Given the description of an element on the screen output the (x, y) to click on. 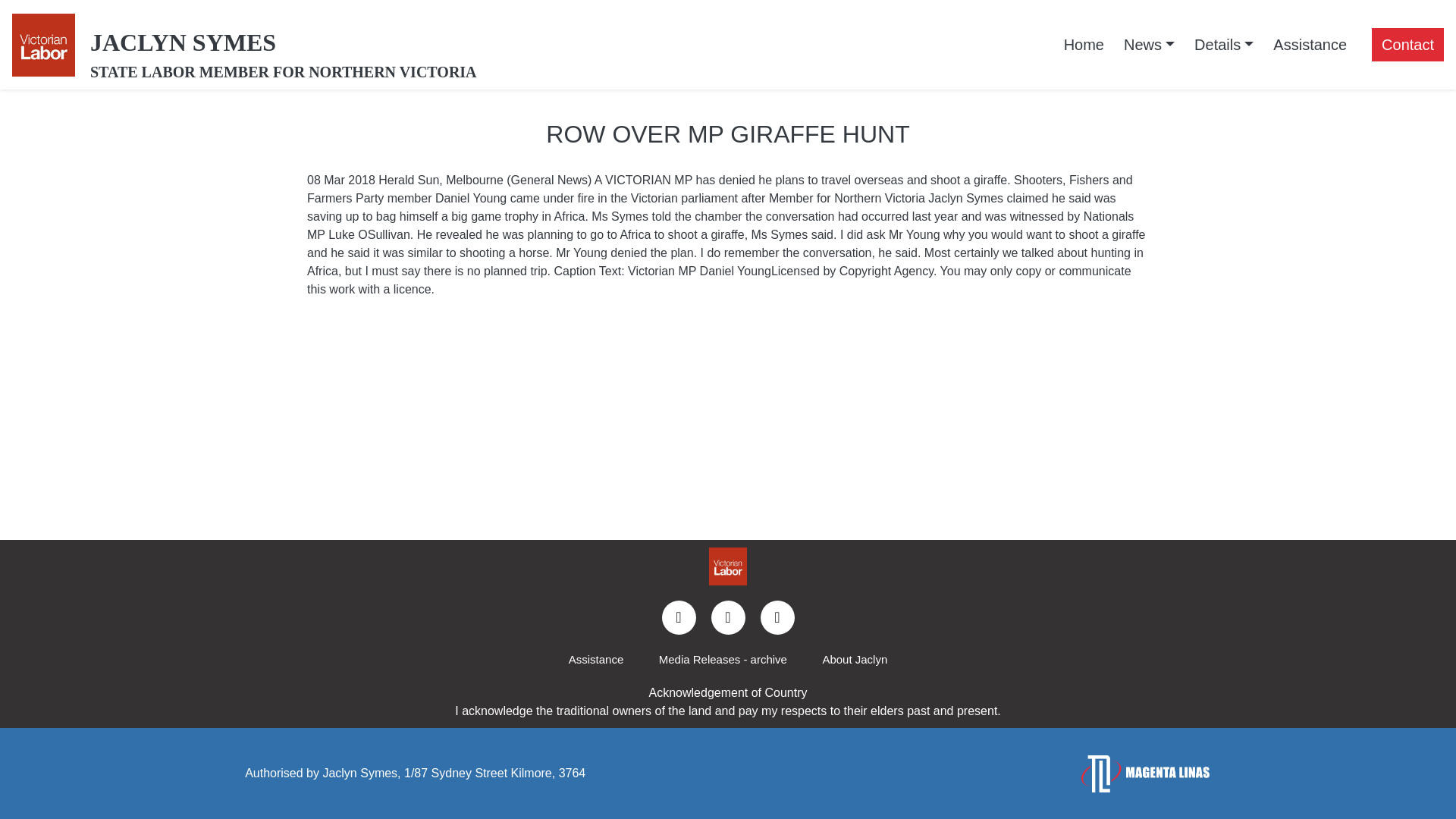
News (1149, 44)
About Jaclyn (854, 659)
Contact (1407, 44)
Assistance (1309, 44)
Media Releases - archive (722, 659)
Home (1083, 44)
Details (1224, 44)
Assistance (595, 659)
